Given the description of an element on the screen output the (x, y) to click on. 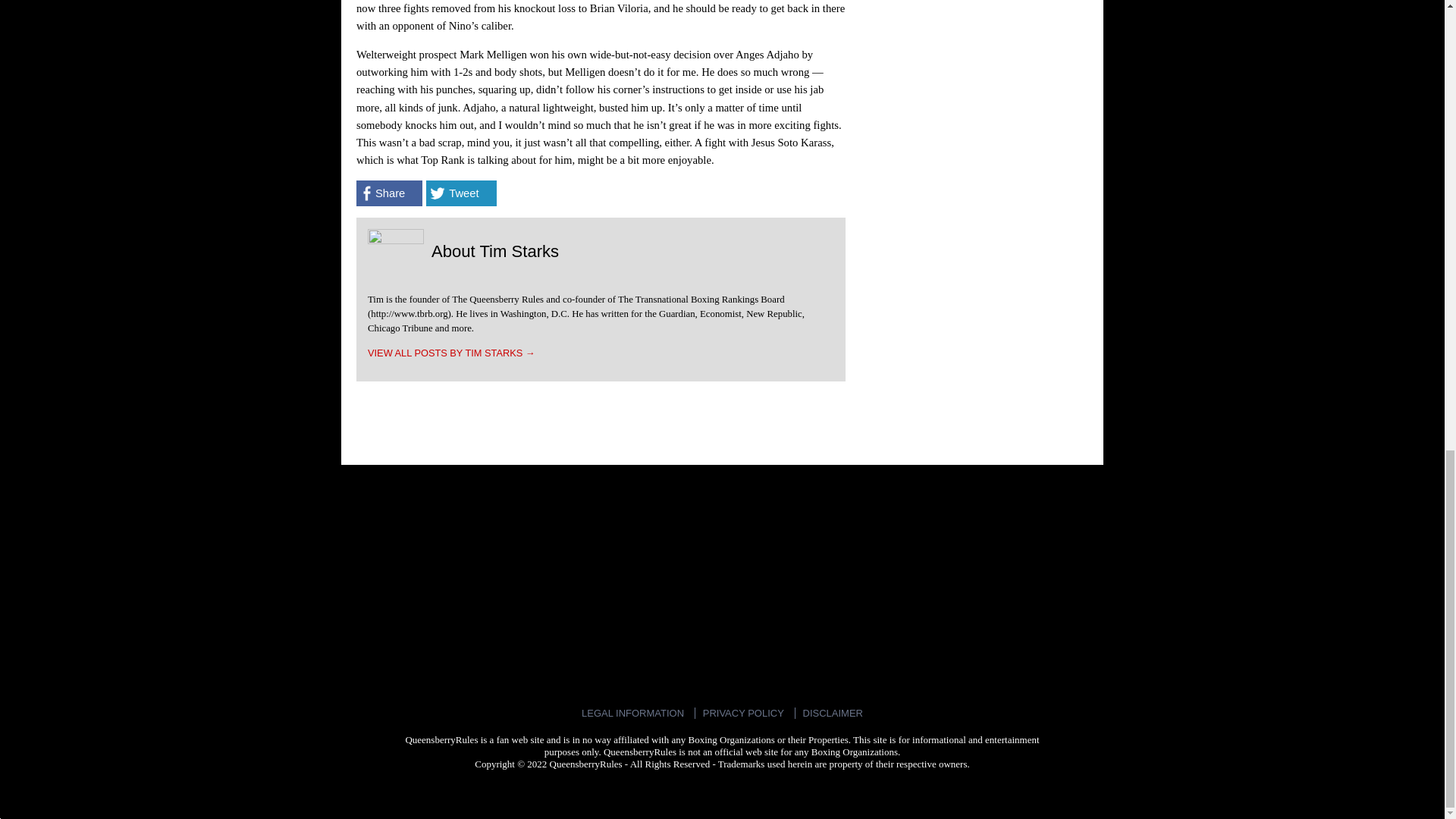
Tweet (461, 193)
DISCLAIMER (833, 713)
Share (389, 193)
PRIVACY POLICY (743, 713)
LEGAL INFORMATION (632, 713)
